Given the description of an element on the screen output the (x, y) to click on. 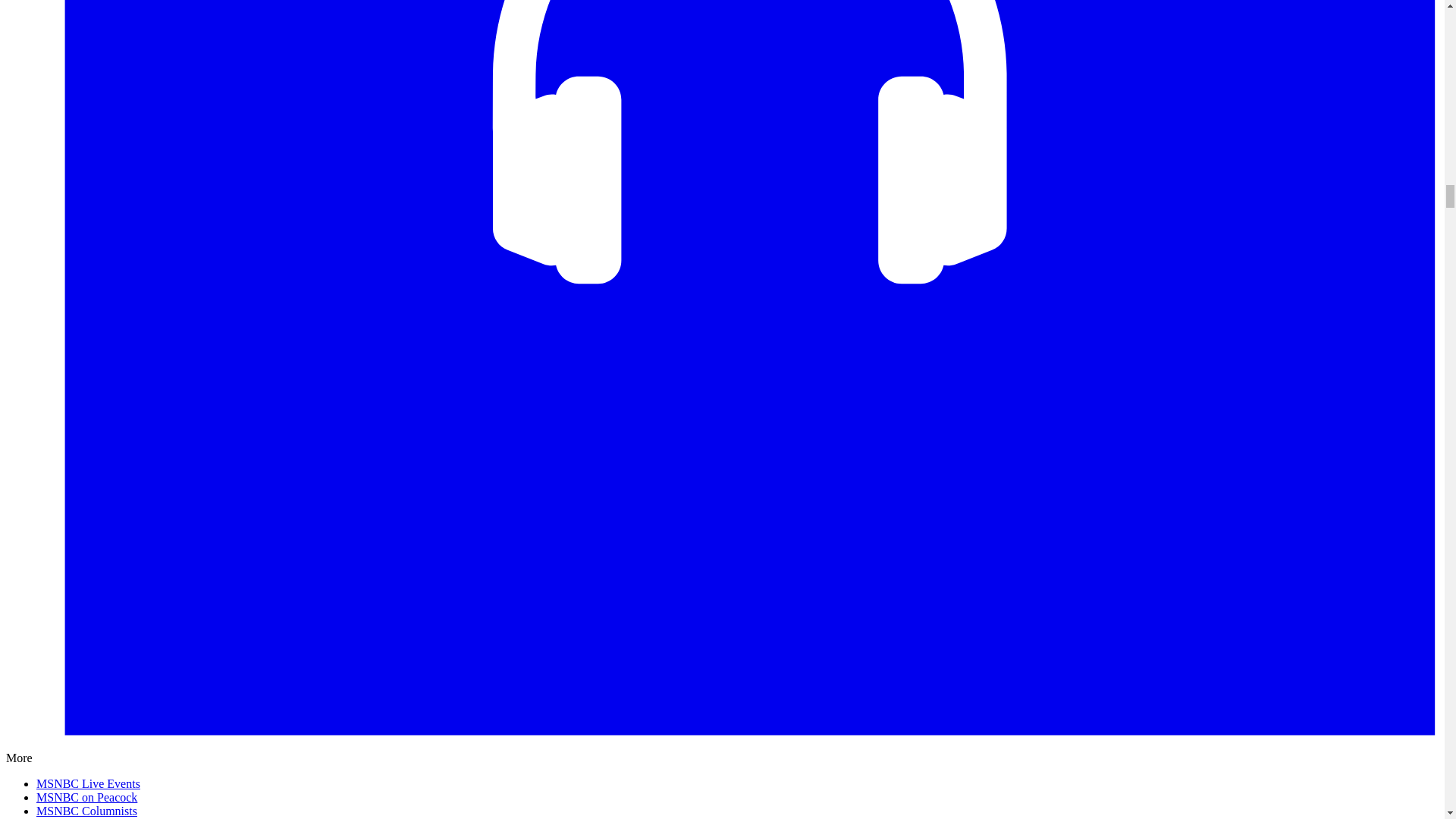
MSNBC on Peacock (86, 797)
MSNBC Live Events (87, 783)
